Given the description of an element on the screen output the (x, y) to click on. 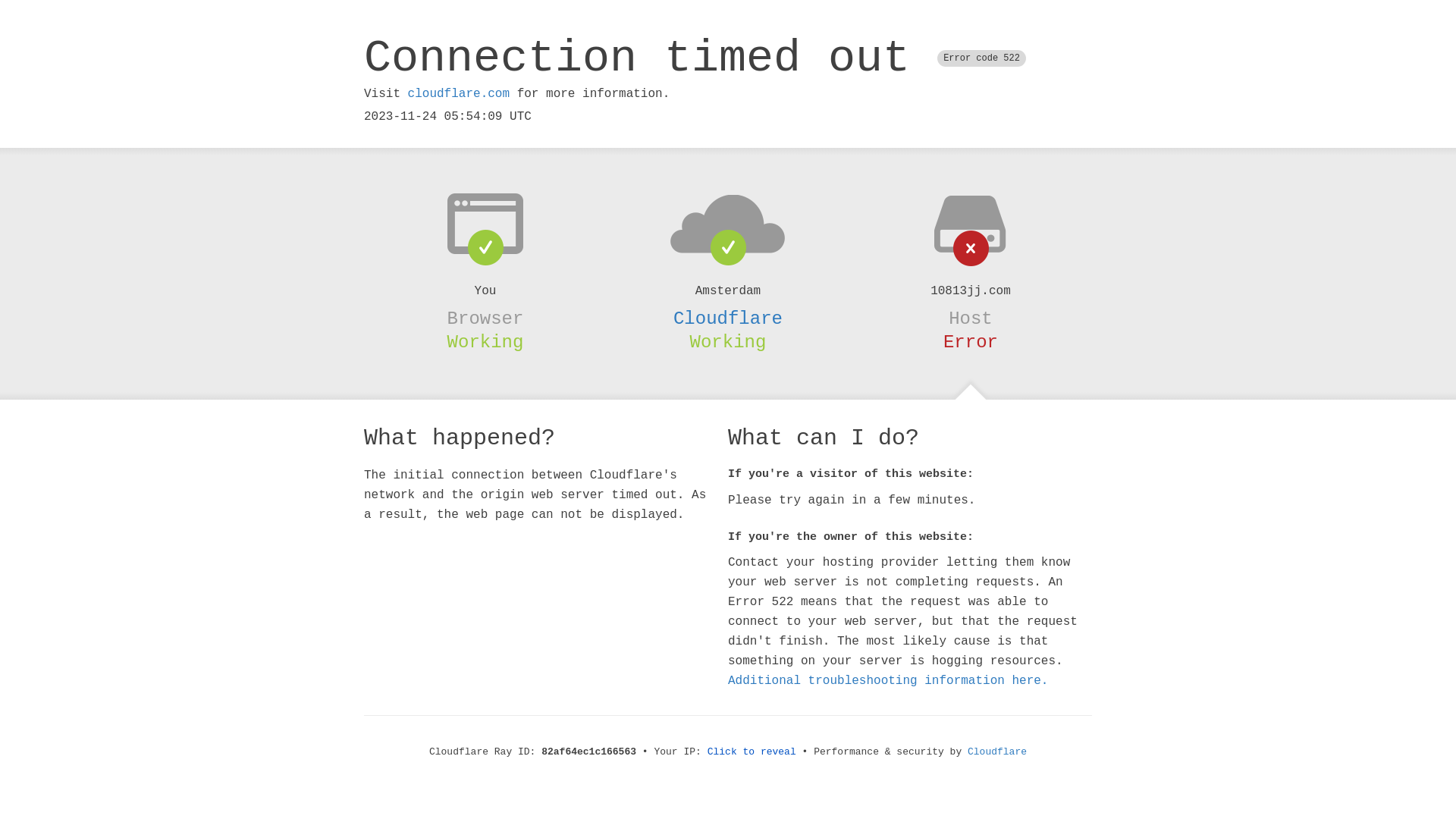
Cloudflare Element type: text (727, 318)
cloudflare.com Element type: text (458, 93)
Additional troubleshooting information here. Element type: text (888, 680)
Cloudflare Element type: text (996, 751)
Click to reveal Element type: text (751, 751)
